Given the description of an element on the screen output the (x, y) to click on. 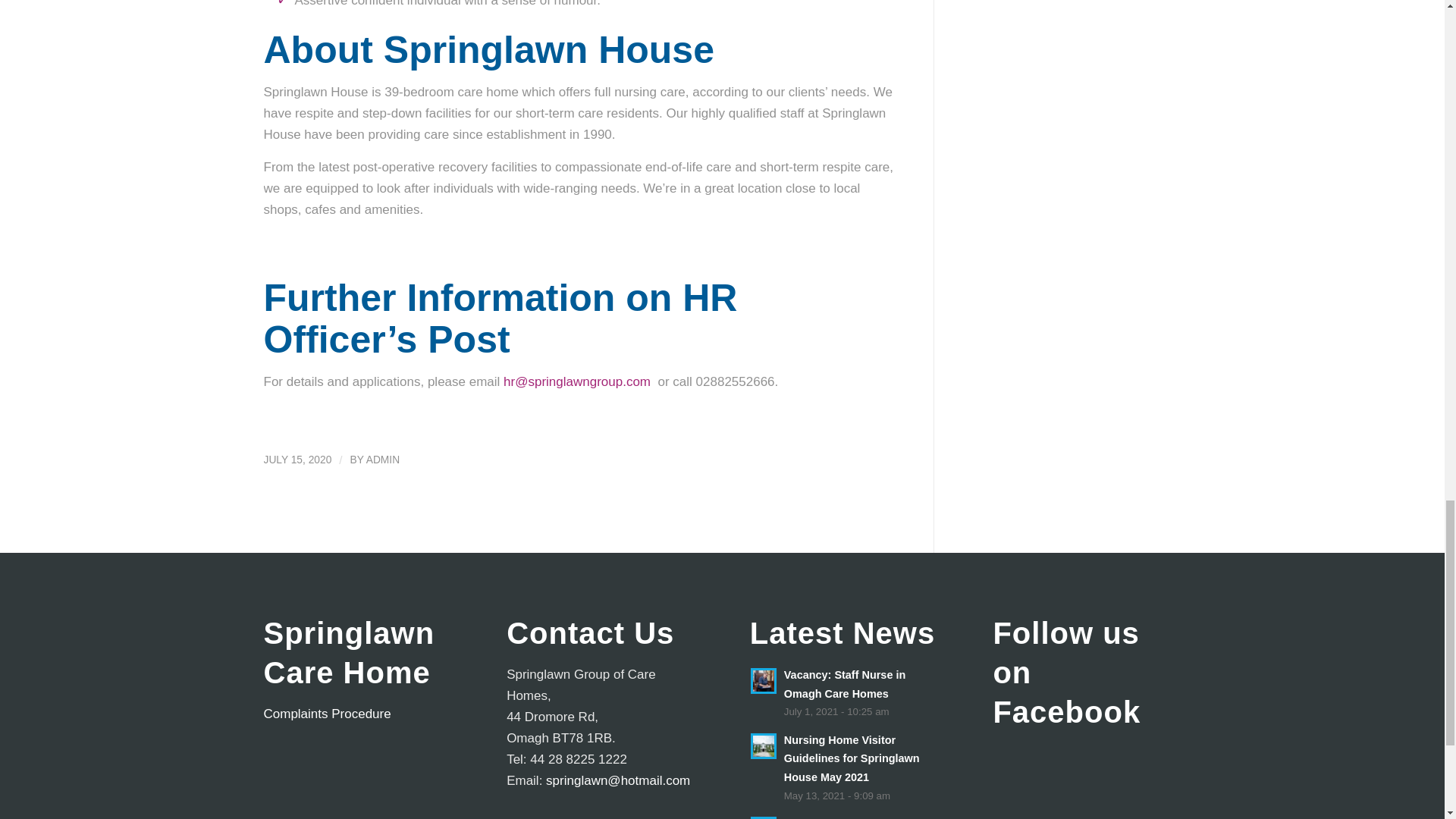
Read: Extra Christmas Visiting Hours at Springlawn House (763, 817)
Read: Vacancy: Staff Nurse in Omagh Care Homes (844, 684)
ADMIN (382, 460)
Read: Vacancy: Staff Nurse in Omagh Care Homes (763, 680)
Posts by admin (382, 460)
